Given the description of an element on the screen output the (x, y) to click on. 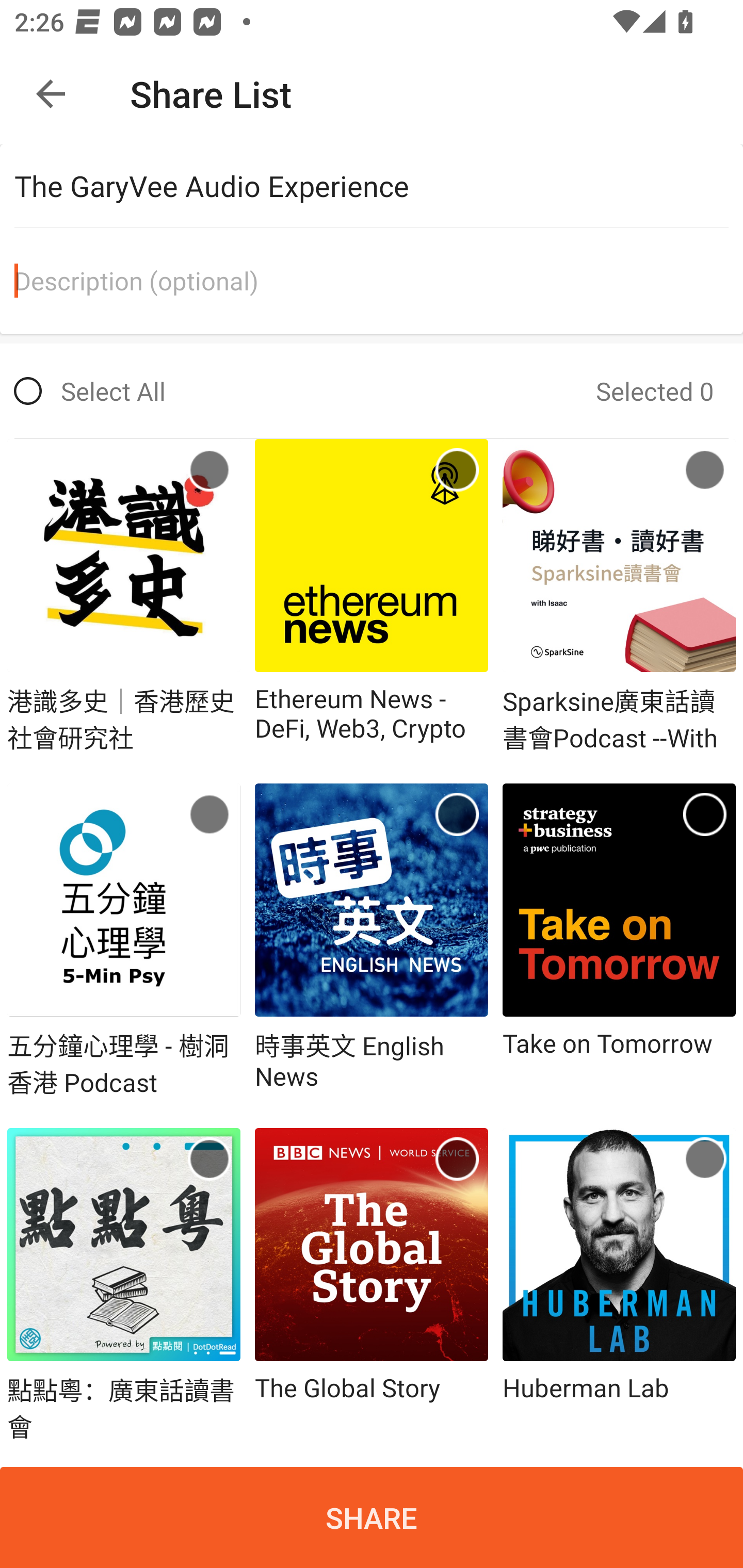
Navigate up (50, 93)
The GaryVee Audio Experience (378, 185)
Description (optional) (378, 280)
Select All (89, 391)
港識多史｜香港歷史社會研究社 (123, 596)
Ethereum News - DeFi, Web3, Crypto (371, 596)
Sparksine廣東話讀書會Podcast --With Isaac (618, 596)
五分鐘心理學 - 樹洞香港 Podcast (123, 941)
時事英文 English News (371, 941)
Take on Tomorrow (618, 941)
點點粵：廣東話讀書會 (123, 1285)
The Global Story (371, 1285)
Huberman Lab (618, 1285)
SHARE (371, 1517)
